Given the description of an element on the screen output the (x, y) to click on. 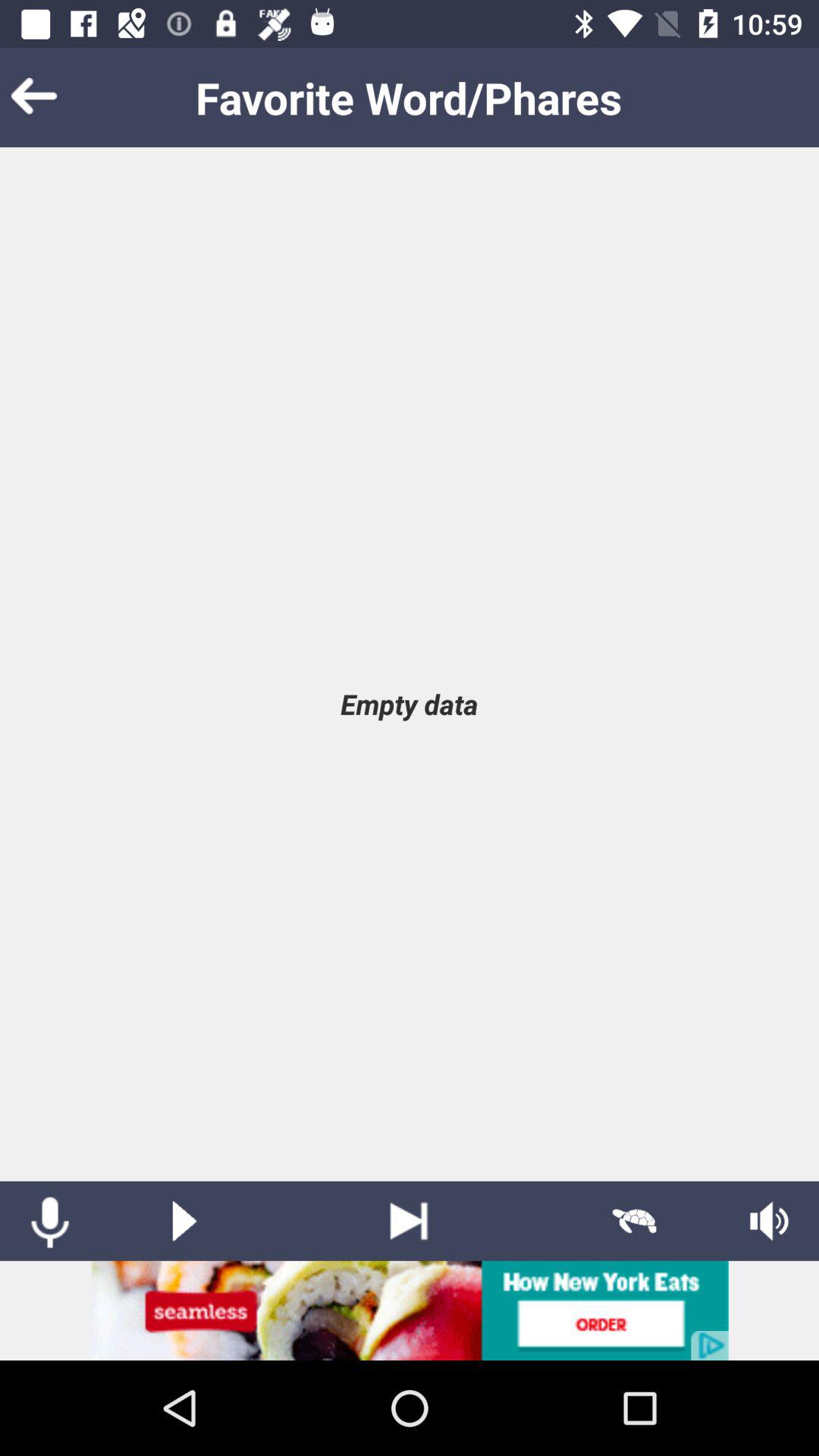
go to speaker option (769, 1220)
